Given the description of an element on the screen output the (x, y) to click on. 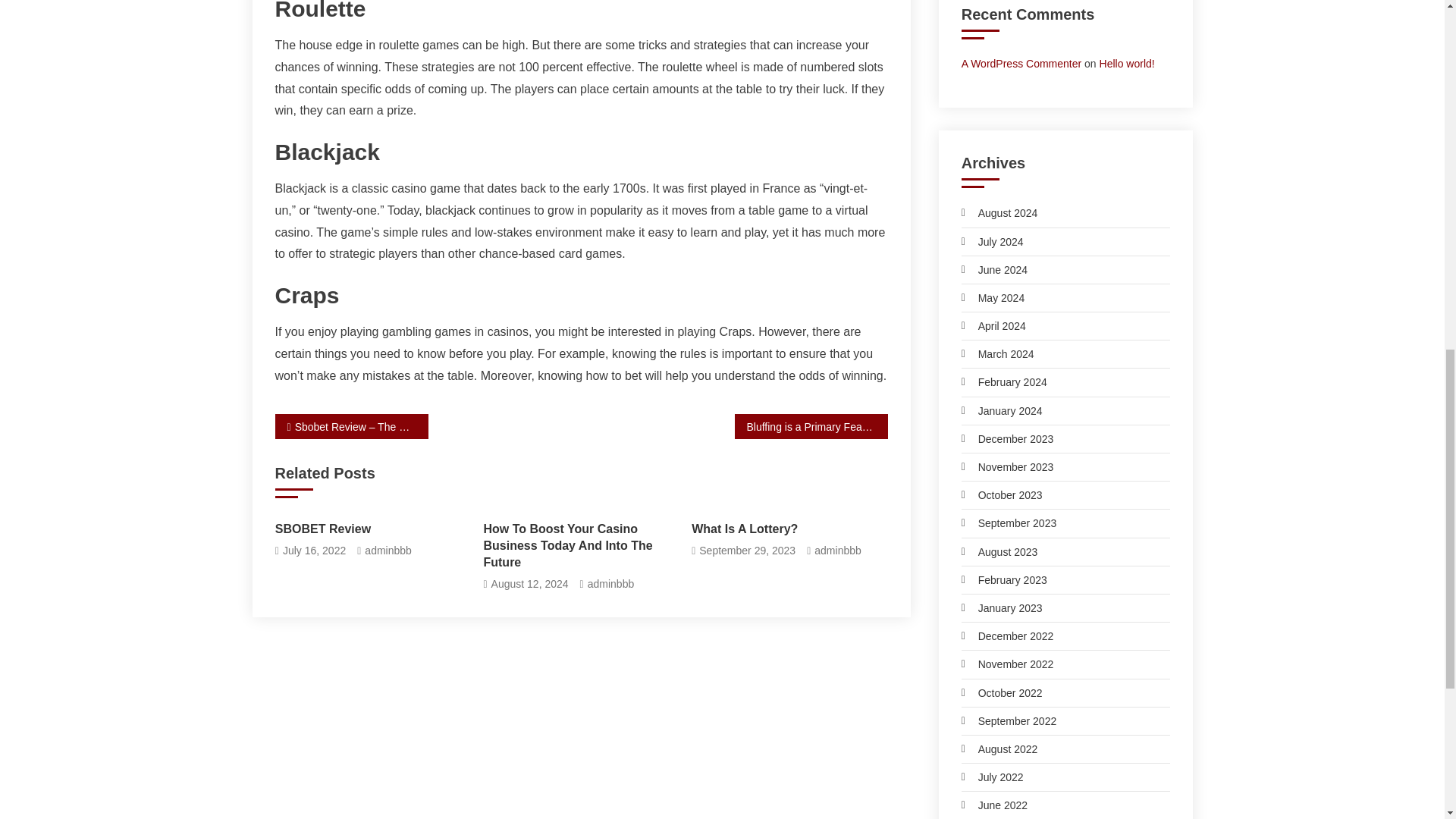
July 2024 (991, 241)
July 16, 2022 (314, 550)
SBOBET Review (372, 528)
April 2024 (993, 325)
May 2024 (992, 297)
June 2024 (993, 270)
March 2024 (996, 353)
adminbbb (611, 583)
Hello world! (1126, 63)
February 2024 (1003, 382)
